Given the description of an element on the screen output the (x, y) to click on. 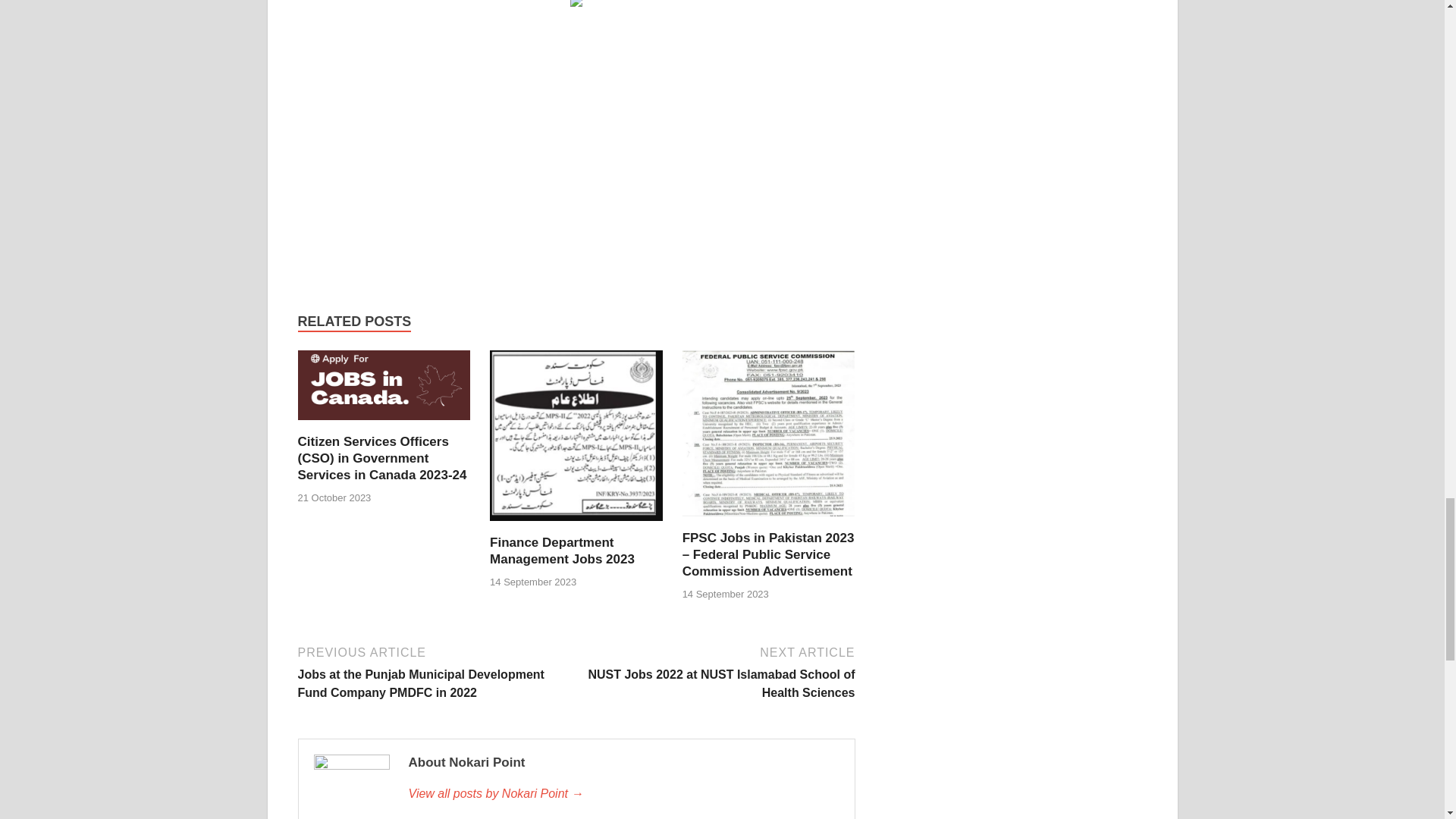
Finance Department Management Jobs 2023 (575, 524)
Finance Department Management Jobs 2023 (561, 550)
Nokari Point (622, 793)
